Given the description of an element on the screen output the (x, y) to click on. 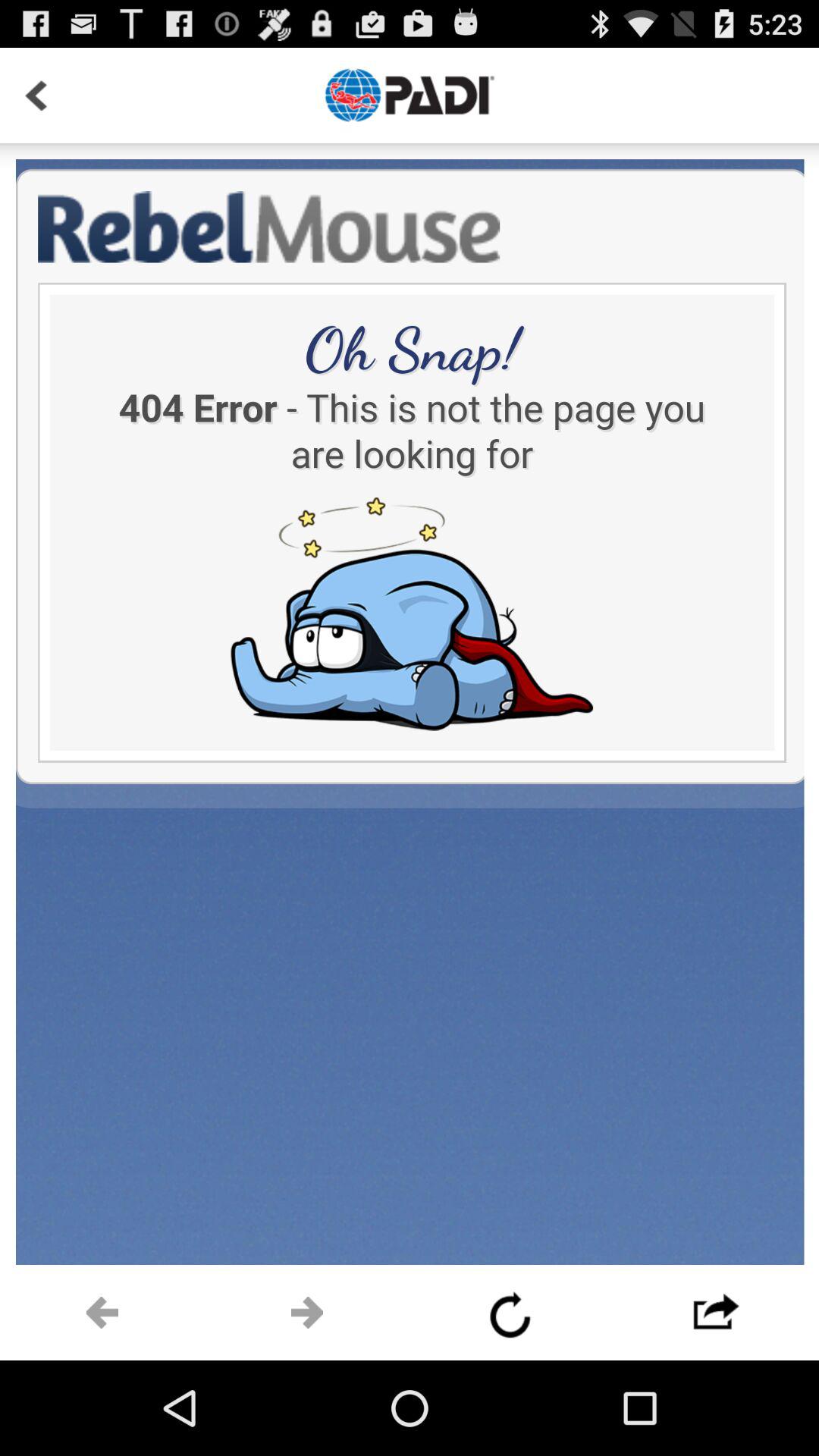
go back (102, 1312)
